Given the description of an element on the screen output the (x, y) to click on. 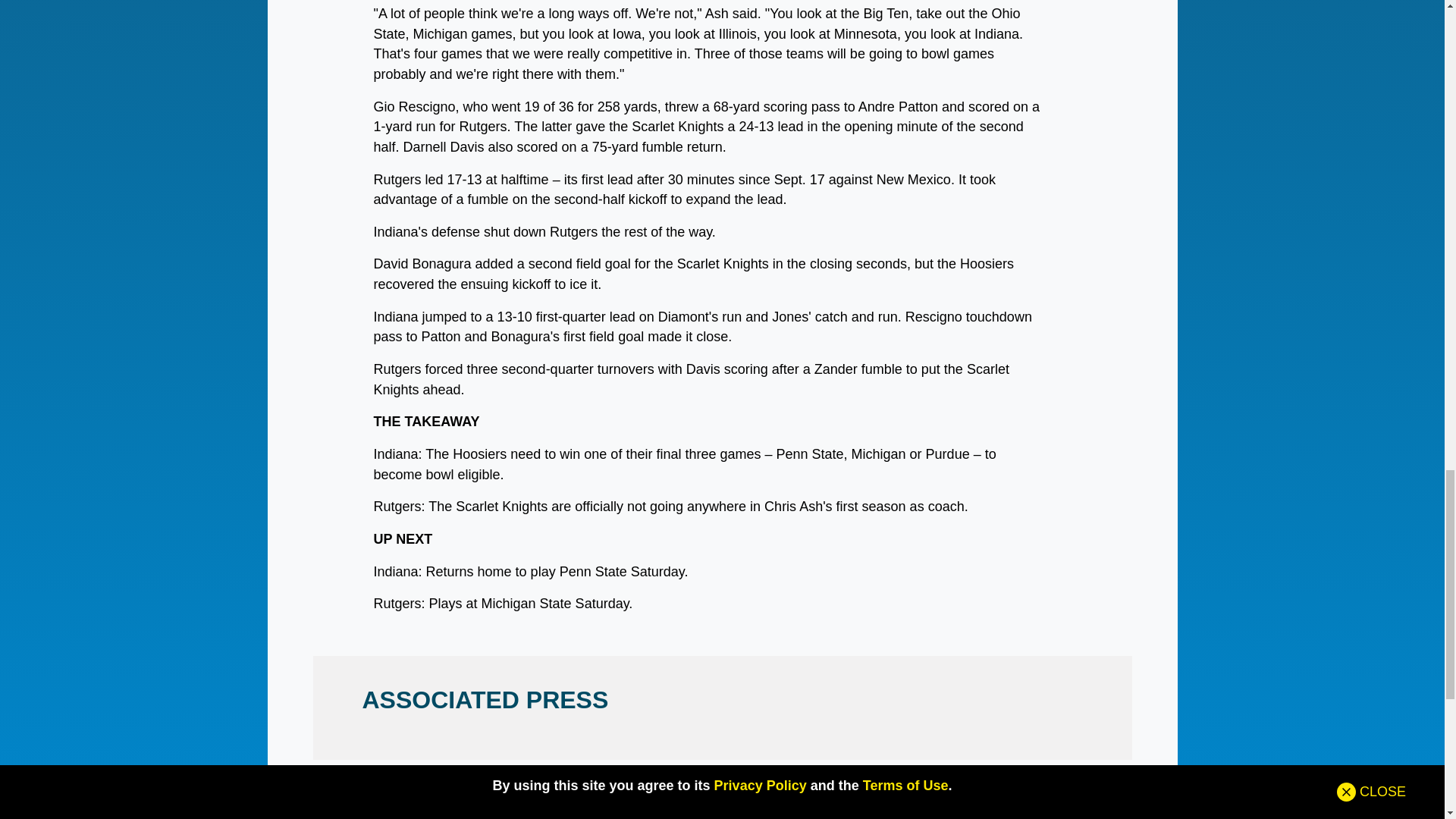
For the Media (327, 299)
BTN on Linktree (327, 344)
Contact Us (327, 253)
Student U Productions (1012, 299)
Icon-base-btn-plus-mobile (45, 131)
icon-base-livebig-mobile (45, 177)
Careers (327, 322)
FAQ (1012, 253)
Ad Sales (1012, 276)
SEARCH (818, 217)
Icon-base-btn-plus-mobile (45, 132)
Sign up and watch now. (802, 29)
icon-base-livebig-mobile (45, 177)
About (327, 231)
LIVEBIG (98, 177)
